Given the description of an element on the screen output the (x, y) to click on. 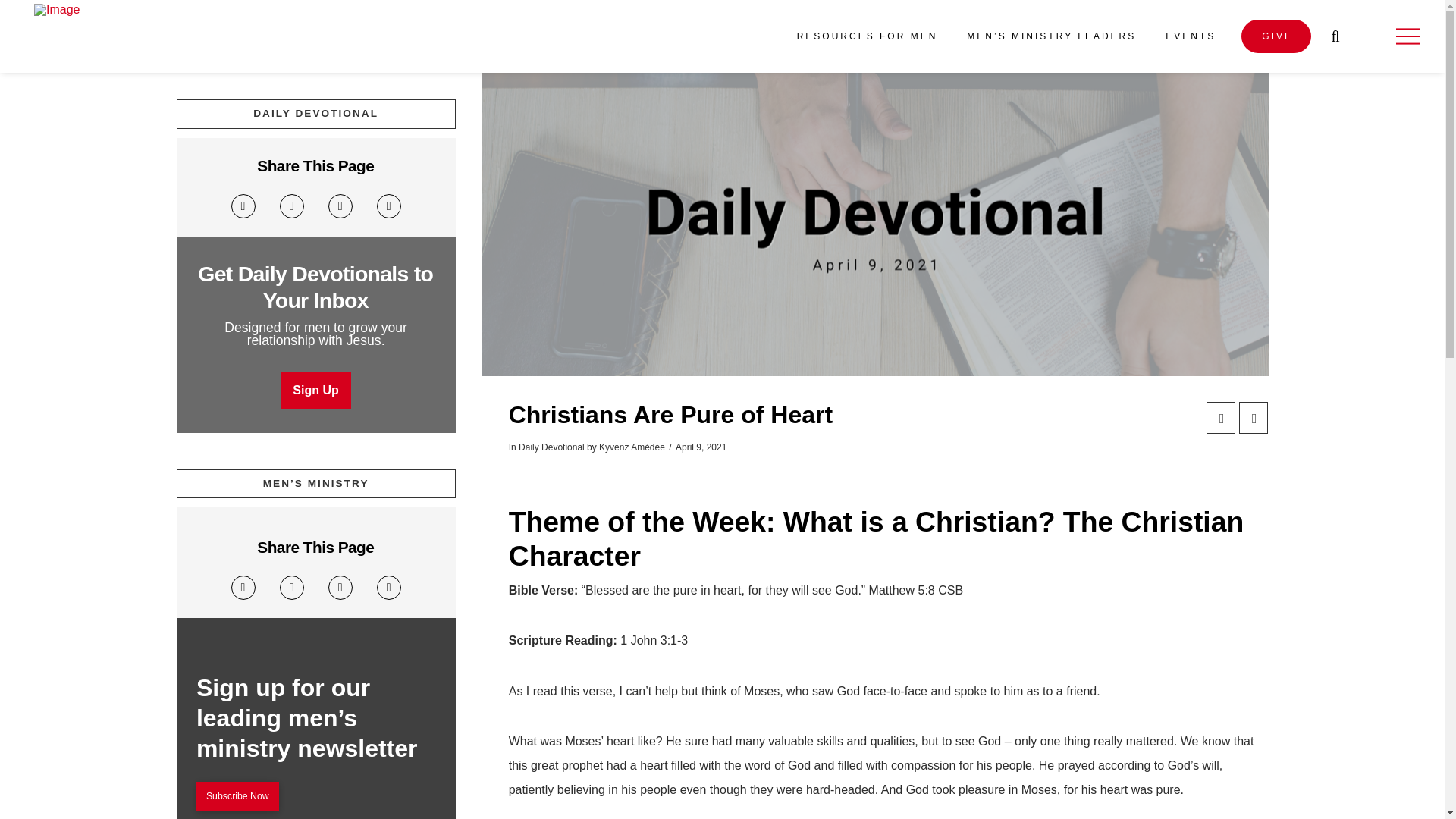
RESOURCES FOR MEN (866, 36)
GIVE (1276, 36)
Daily Devotional (551, 447)
EVENTS (1189, 36)
